Given the description of an element on the screen output the (x, y) to click on. 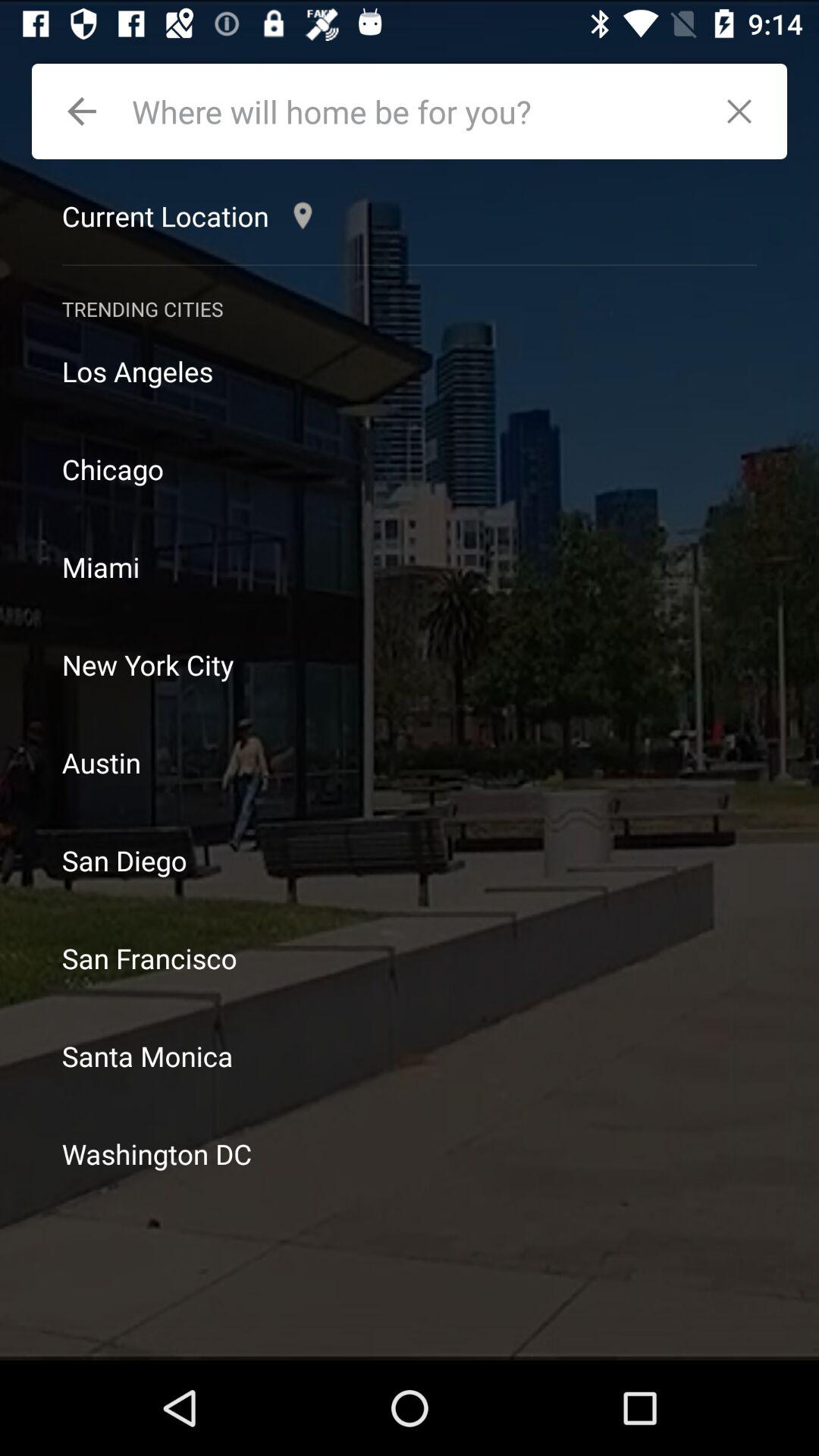
select item below san francisco item (409, 1056)
